Given the description of an element on the screen output the (x, y) to click on. 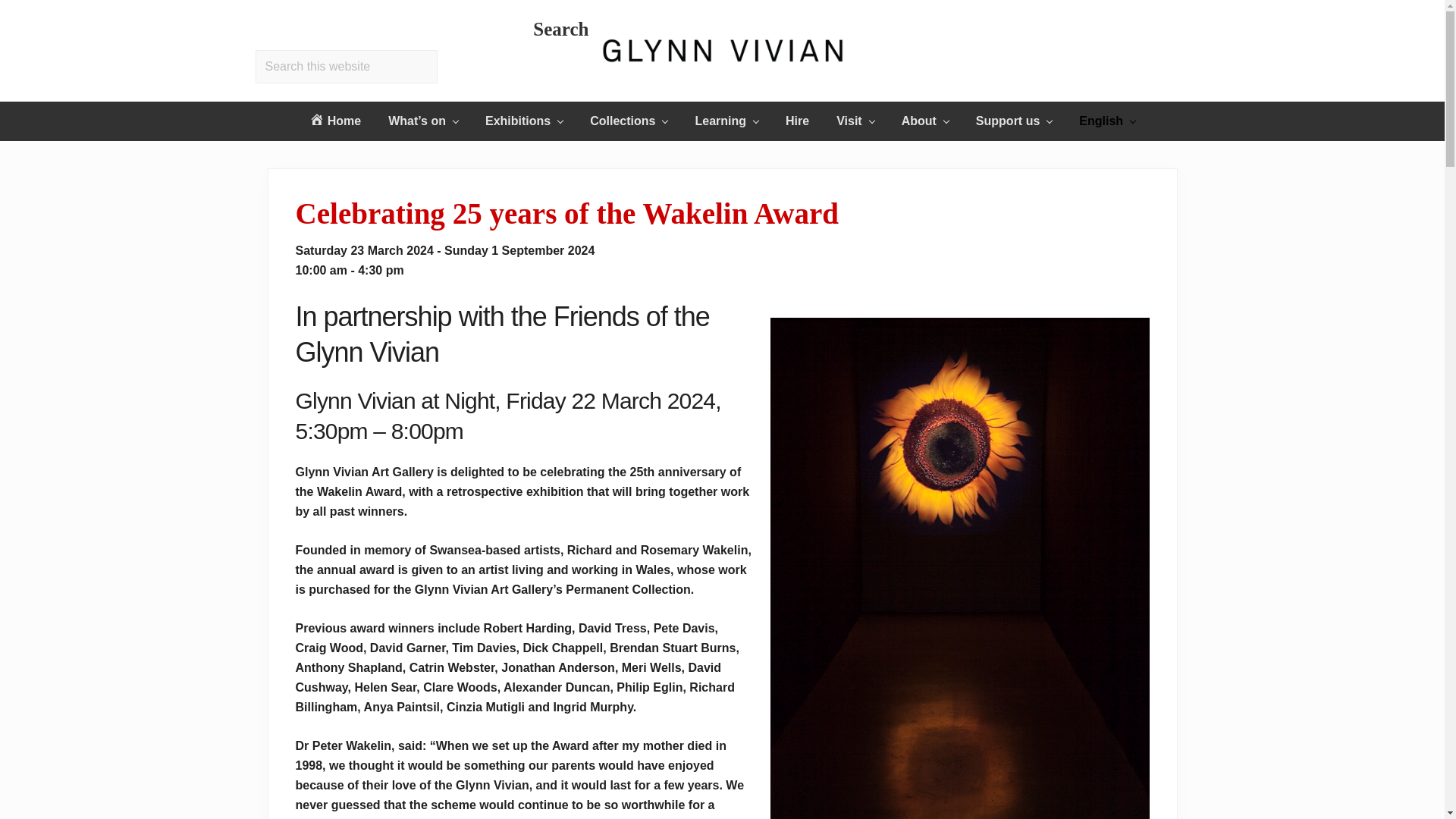
English (1106, 120)
